Given the description of an element on the screen output the (x, y) to click on. 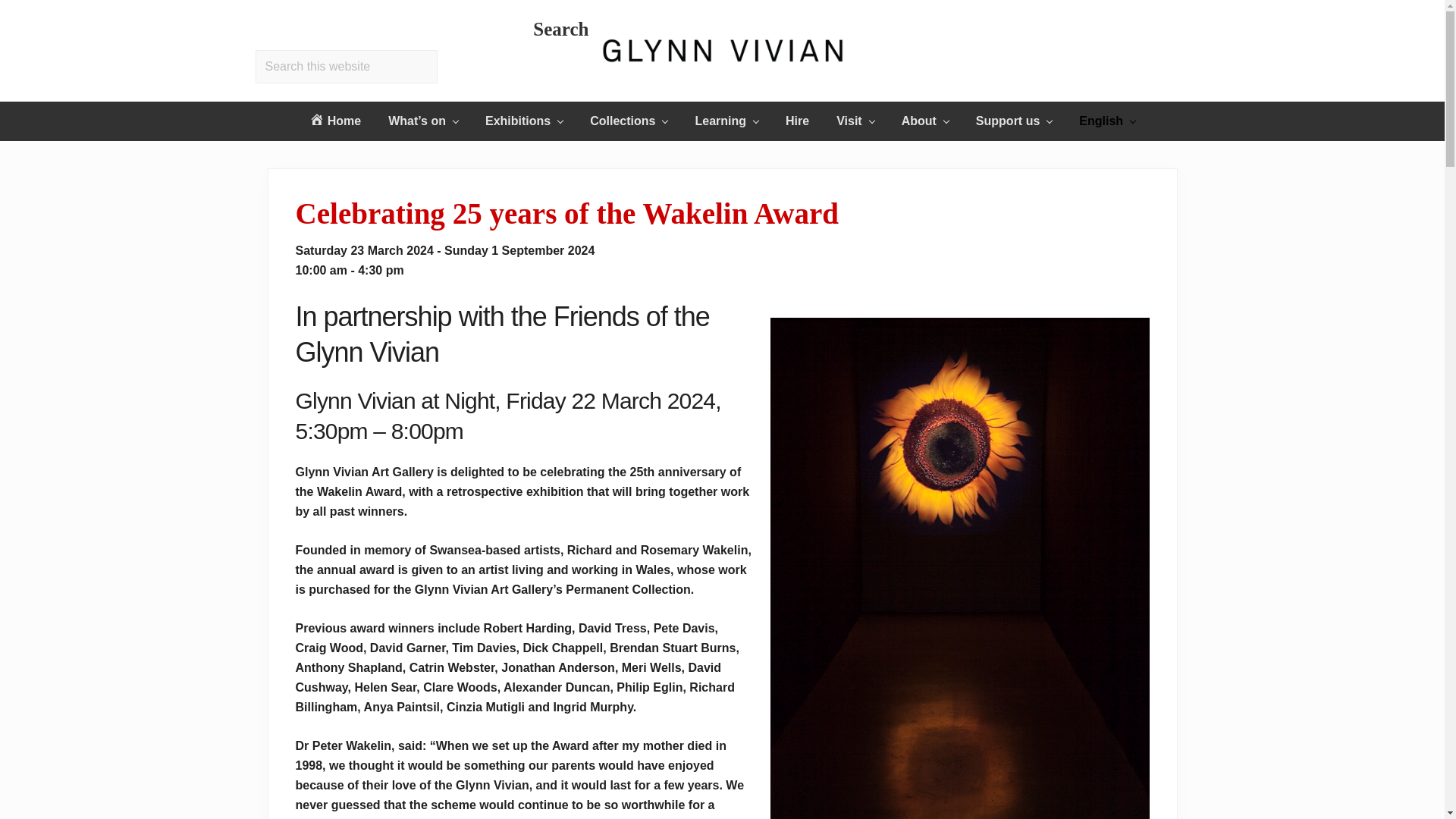
English (1106, 120)
